Given the description of an element on the screen output the (x, y) to click on. 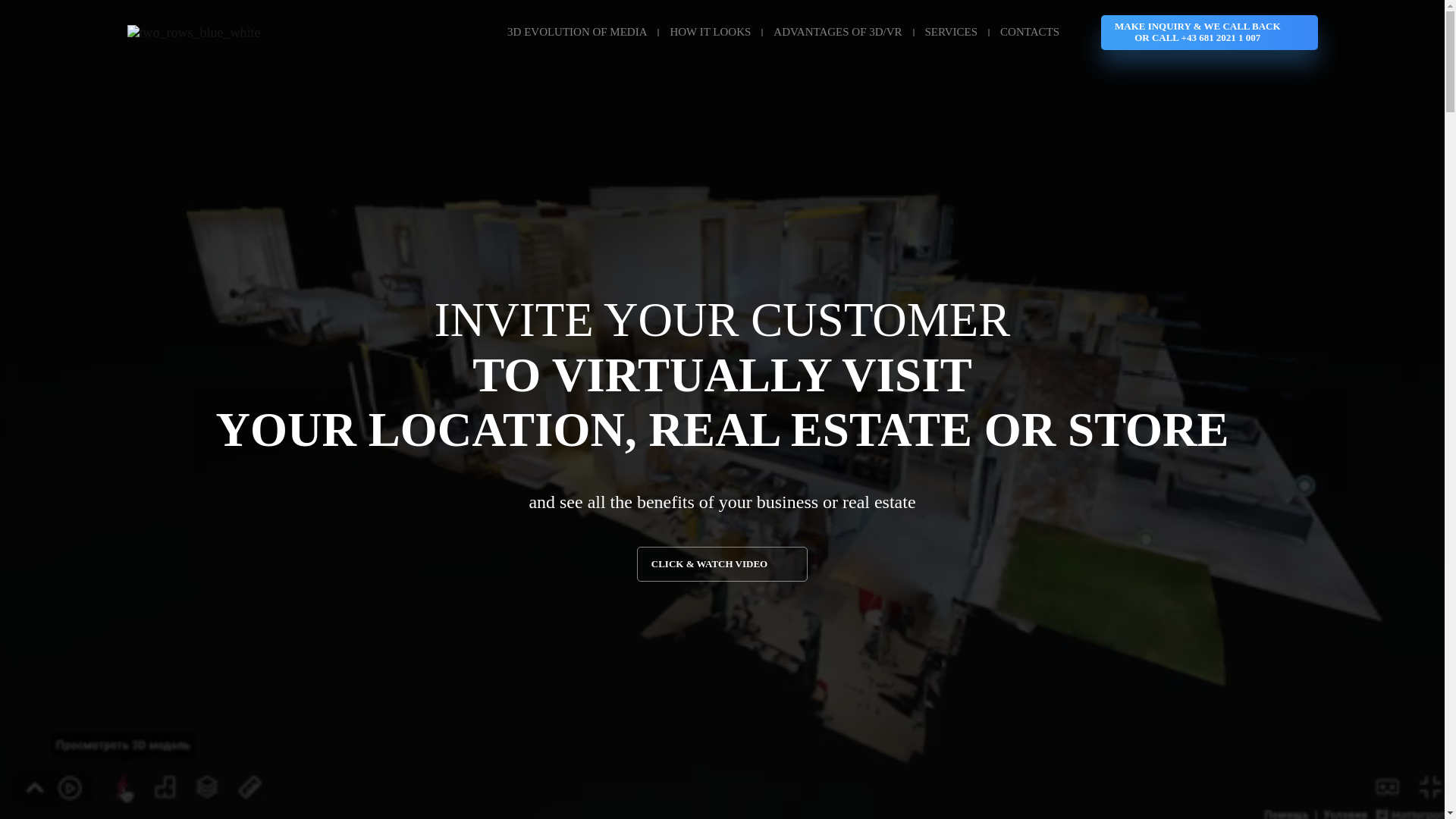
HOW IT LOOKS Element type: text (709, 31)
CLICK & WATCH VIDEO Element type: text (722, 563)
3D EVOLUTION OF MEDIA Element type: text (576, 31)
MAKE INQUIRY & WE CALL BACK
OR CALL +43 681 2021 1 007 Element type: text (1209, 32)
SERVICES Element type: text (951, 31)
ADVANTAGES OF 3D/VR Element type: text (837, 31)
CONTACTS Element type: text (1029, 31)
